Given the description of an element on the screen output the (x, y) to click on. 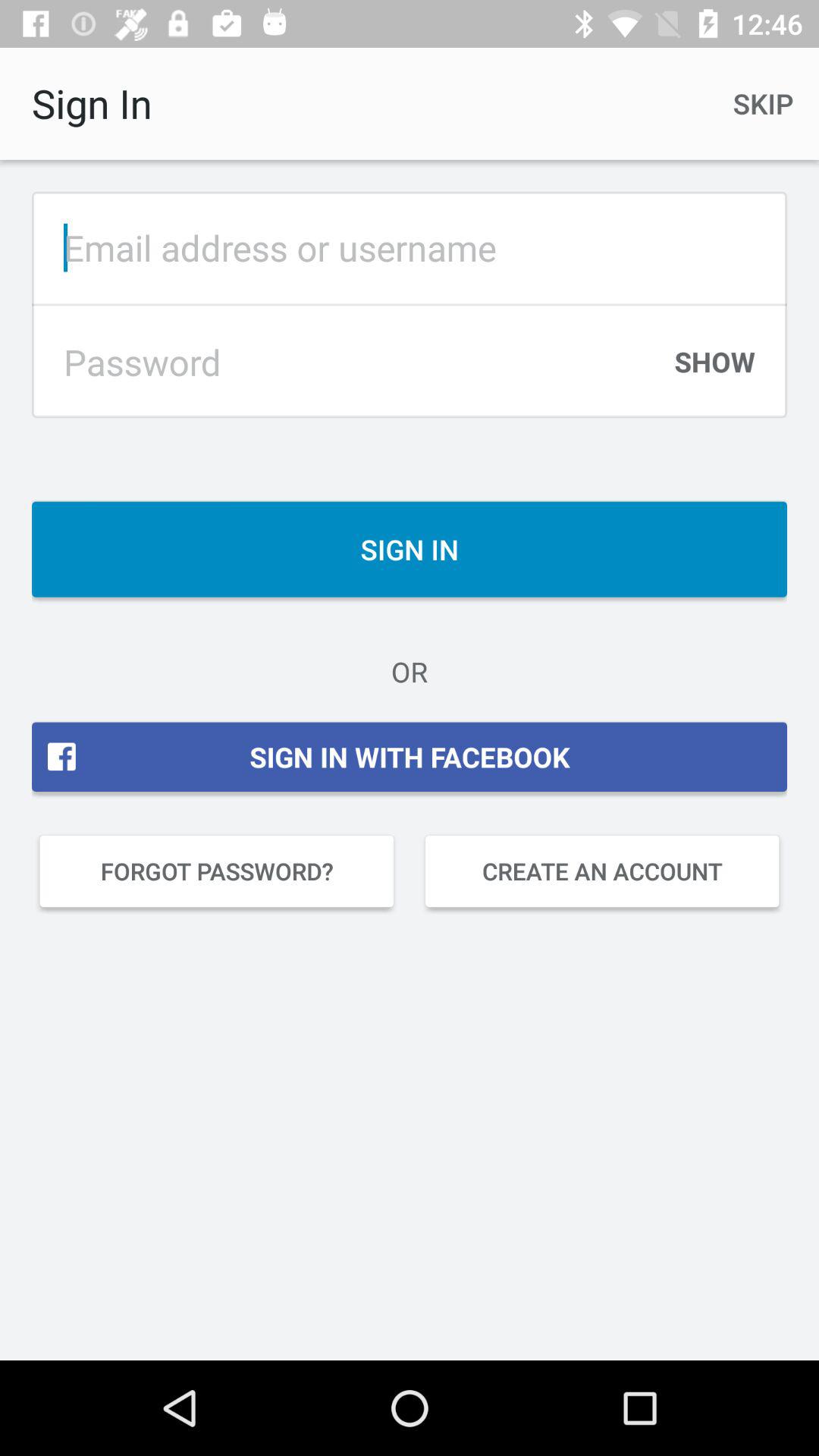
turn off the skip item (763, 103)
